Given the description of an element on the screen output the (x, y) to click on. 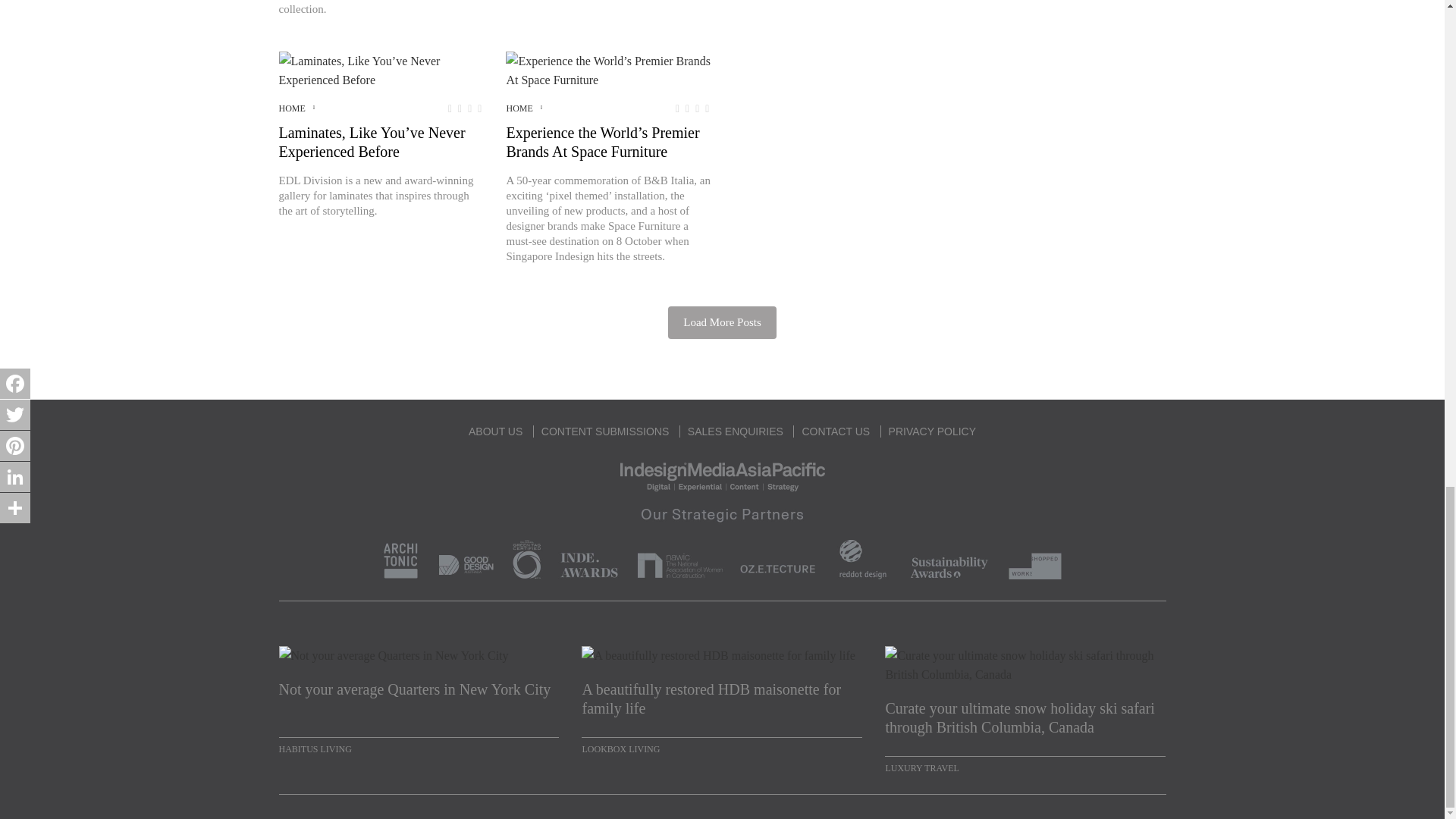
Brought to you by Indesign Media Asia Pacific (721, 475)
Not your average Quarters in New York City (419, 699)
A beautifully restored HDB maisonette for family life (720, 699)
Our Strategic Partners (722, 539)
